Given the description of an element on the screen output the (x, y) to click on. 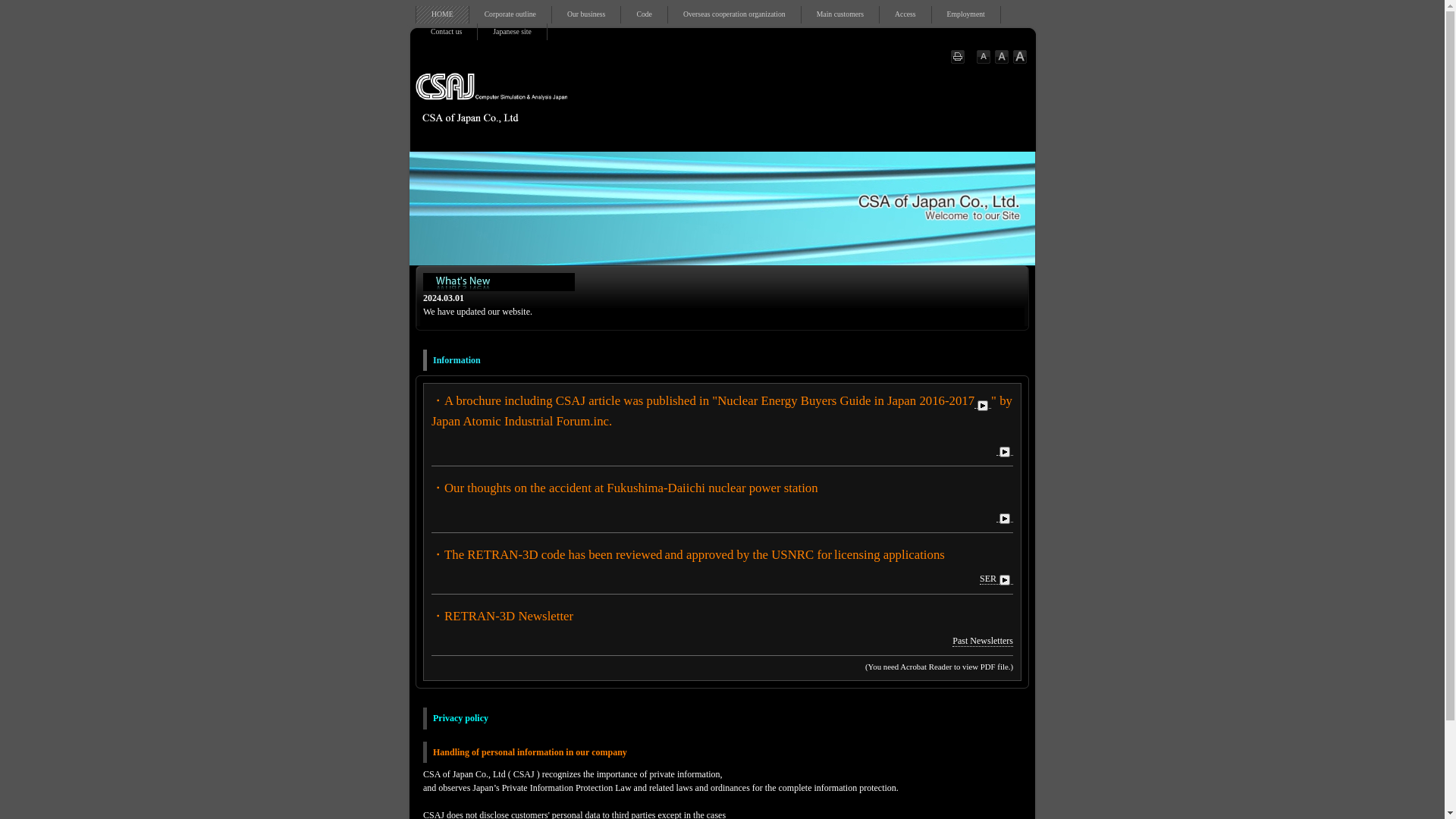
Code (643, 14)
Contact us (445, 31)
Main customers (840, 14)
Employment (965, 14)
Japanese site (511, 31)
Past Newsletters (982, 641)
HOME (442, 14)
Access (905, 14)
Corporate outline (509, 14)
Overseas cooperation organization (734, 14)
